Given the description of an element on the screen output the (x, y) to click on. 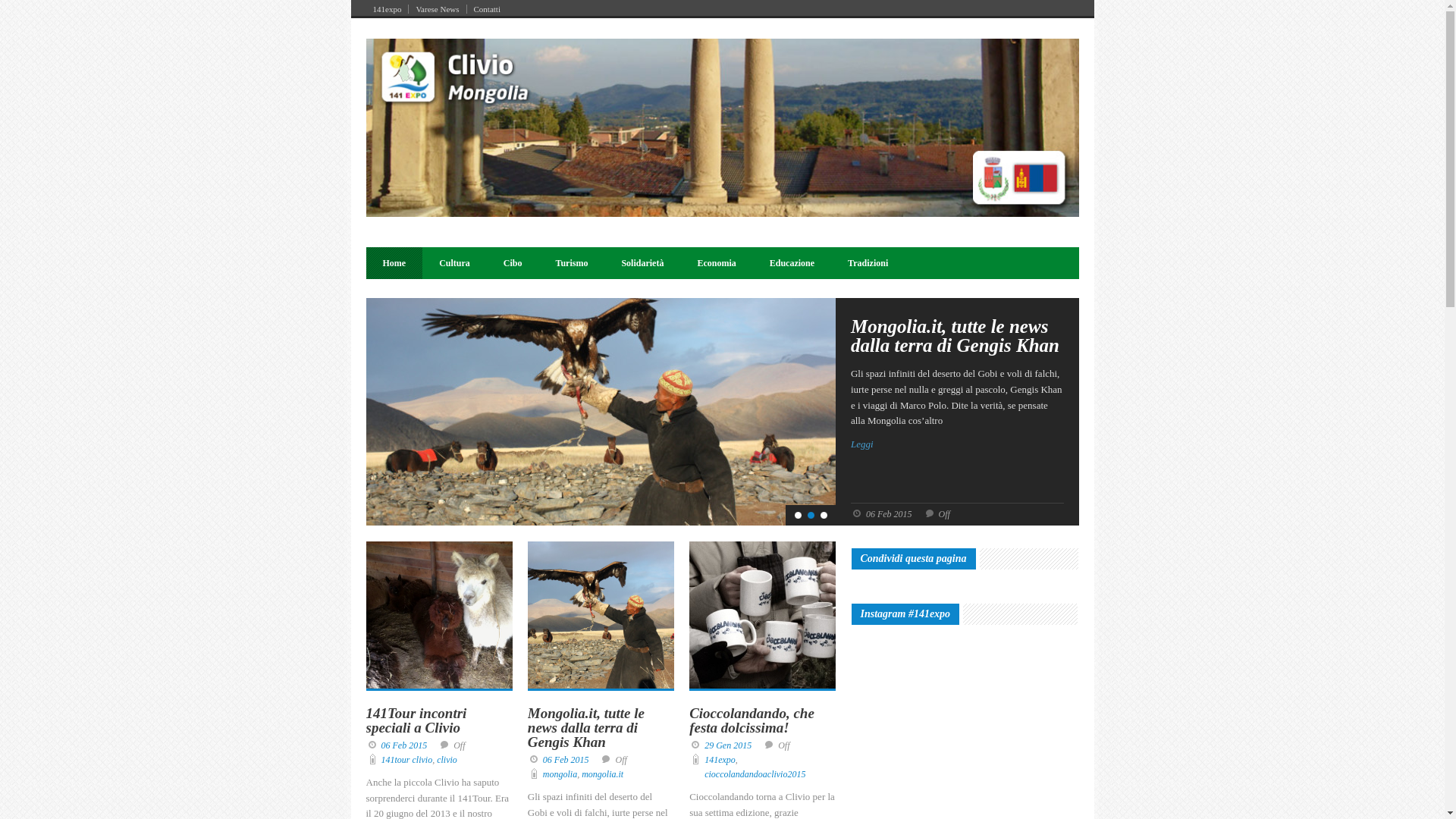
Leggi Element type: text (956, 444)
Cioccolandando, che festa dolcissima! Element type: text (751, 720)
141Tour incontri speciali a Clivio Element type: text (415, 720)
1 Element type: text (797, 514)
2 Element type: text (810, 514)
Educazione Element type: text (792, 263)
Mongolia.it, tutte le news dalla terra di Gengis Khan Element type: text (585, 727)
Economia Element type: text (716, 263)
141expo Element type: text (719, 759)
cioccolandandoaclivio2015 Element type: text (754, 773)
Home Element type: text (393, 263)
mongolia.it Element type: text (602, 773)
06 Feb 2015 Element type: text (565, 759)
Cultura Element type: text (454, 263)
06 Feb 2015 Element type: text (403, 745)
141tour clivio Element type: text (406, 759)
mongolia Element type: text (559, 773)
29 Gen 2015 Element type: text (727, 745)
clivio Element type: text (446, 759)
141expo Element type: text (386, 8)
Turismo Element type: text (572, 263)
Tradizioni Element type: text (867, 263)
Varese News Element type: text (437, 8)
Cibo Element type: text (512, 263)
06 Feb 2015 Element type: text (889, 513)
3 Element type: text (823, 514)
Contatti Element type: text (487, 8)
